Given the description of an element on the screen output the (x, y) to click on. 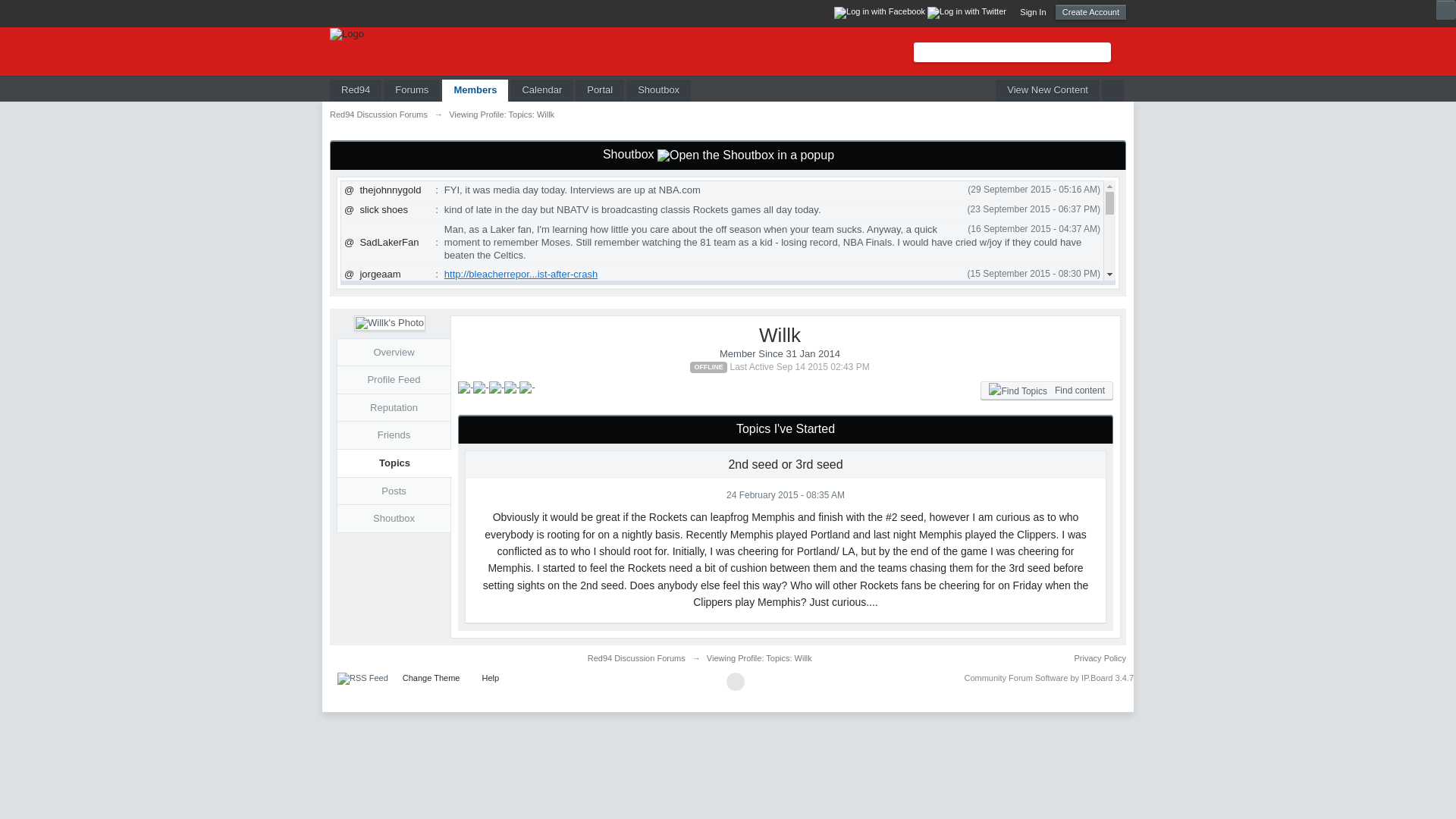
thejohnnygold (389, 189)
Go to Members (475, 90)
Shoutbox (658, 90)
Advanced (1119, 51)
Members (475, 90)
Go to Portal (599, 90)
Sign In (1032, 11)
Create Account (1090, 11)
Forums (411, 90)
